Given the description of an element on the screen output the (x, y) to click on. 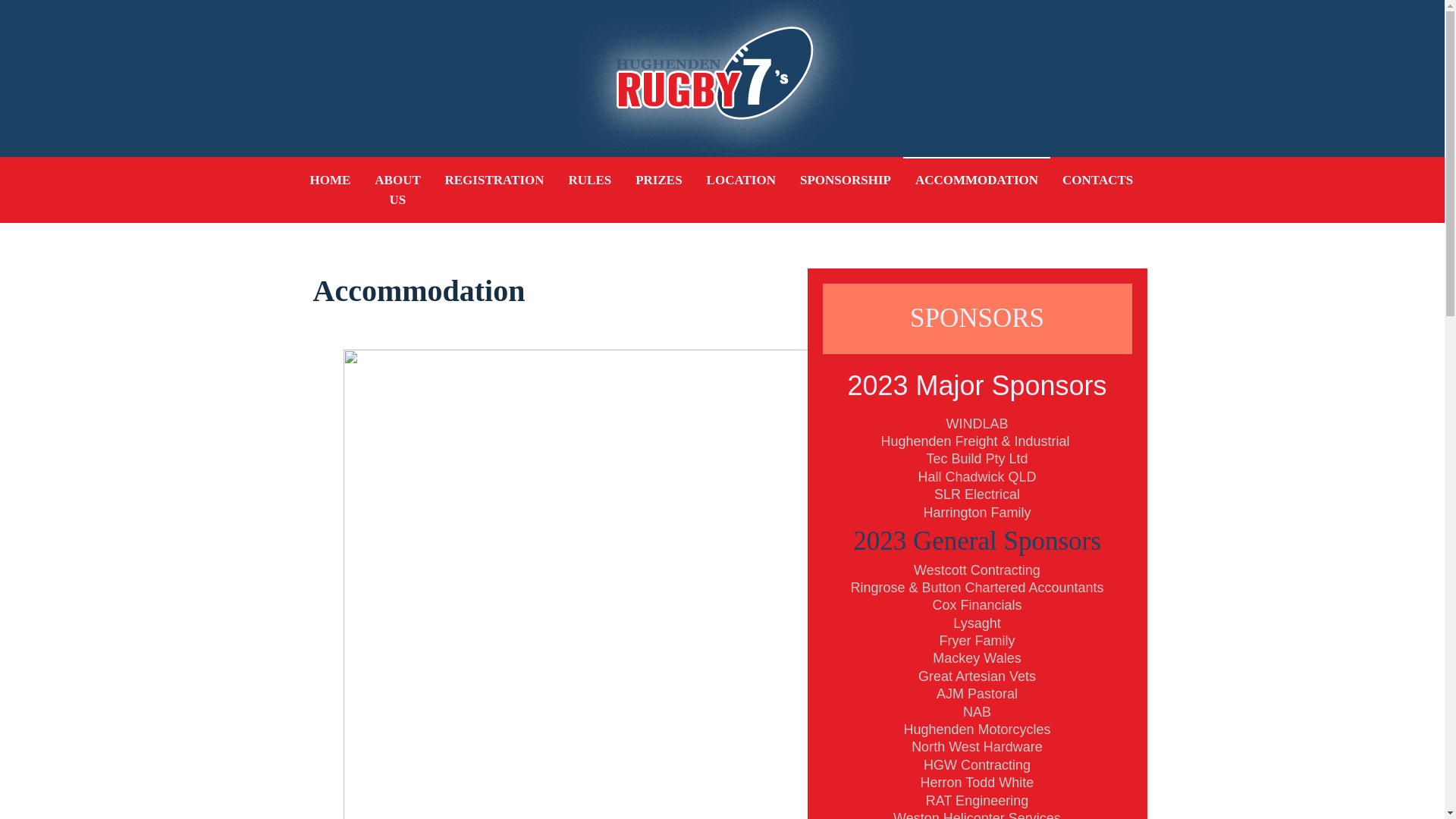
LOCATION Element type: text (740, 179)
ACCOMMODATION Element type: text (976, 179)
ABOUT US Element type: text (397, 189)
REGISTRATION Element type: text (493, 179)
CONTACTS Element type: text (1097, 179)
HOME Element type: text (329, 179)
RULES Element type: text (590, 179)
PRIZES Element type: text (658, 179)
2023 Major Sponsors Element type: text (976, 384)
SPONSORSHIP Element type: text (845, 179)
